Given the description of an element on the screen output the (x, y) to click on. 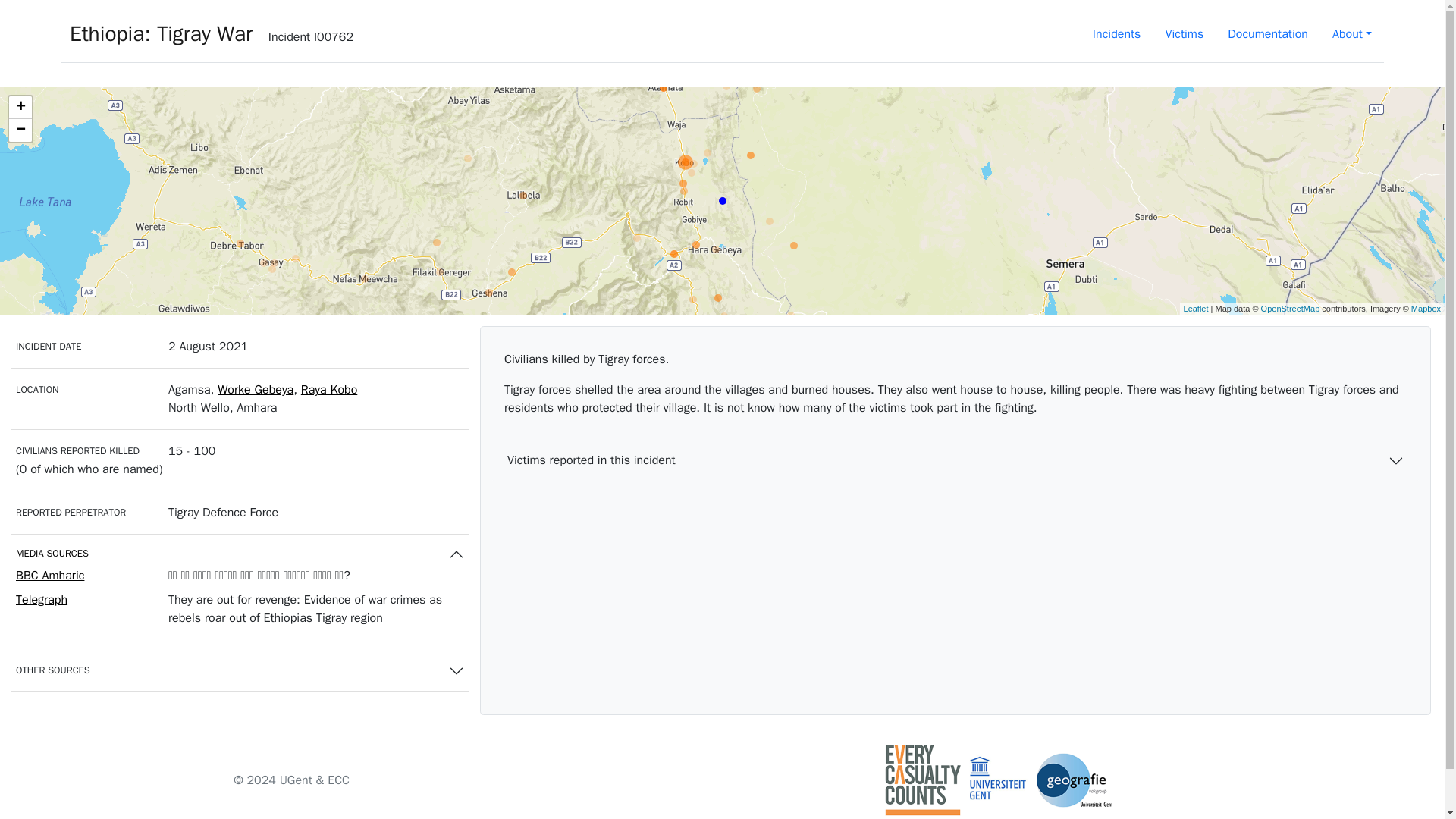
Telegraph (41, 599)
Incidents (1116, 33)
Ethiopia: Tigray War (160, 35)
Go to more incidents in district Raya Kobo (328, 389)
Zoom out (20, 129)
About (1352, 33)
BBC Amharic (50, 575)
Zoom in (20, 107)
Worke Gebeya (255, 389)
Victims reported in this incident (955, 460)
Mapbox (1425, 307)
Leaflet (1195, 307)
Documentation (1267, 33)
OpenStreetMap (1290, 307)
A JS library for interactive maps (1195, 307)
